Given the description of an element on the screen output the (x, y) to click on. 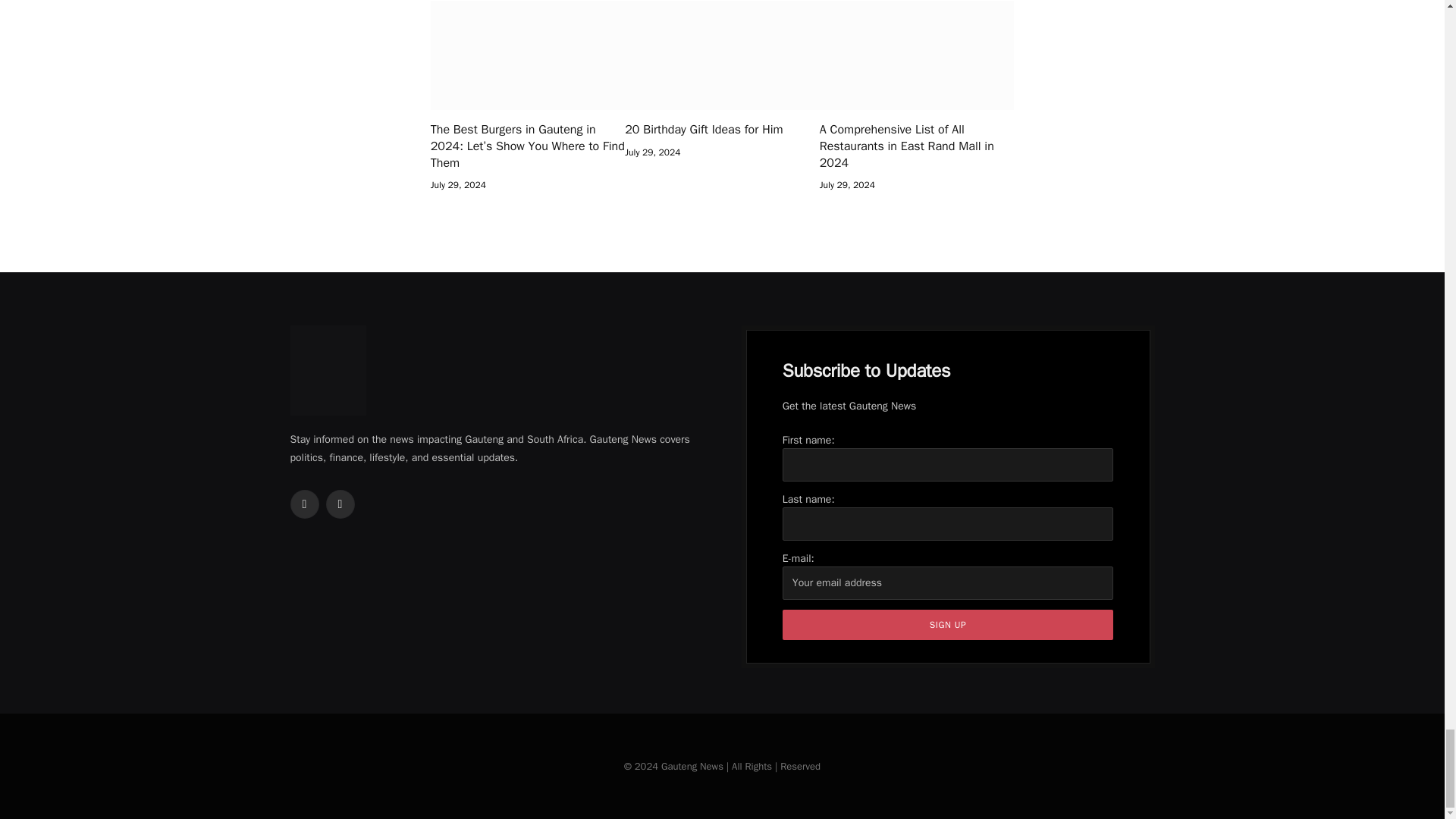
Sign up (948, 624)
